Given the description of an element on the screen output the (x, y) to click on. 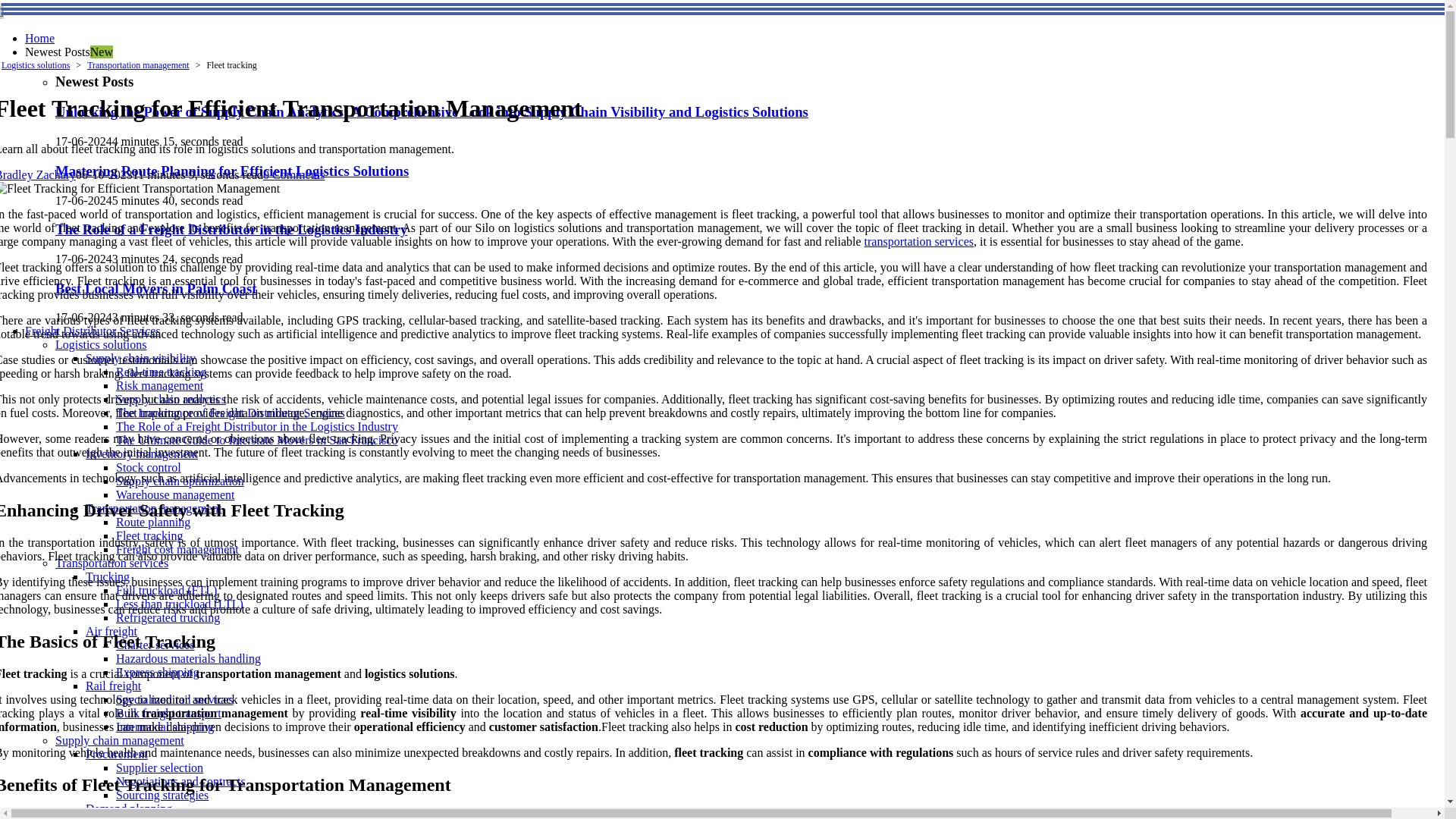
Real-time tracking (161, 371)
Logistics solutions (101, 344)
Freight Distributor Services (92, 330)
Transportation management (153, 508)
Best Local Movers in Palm Coast (155, 288)
Inventory management (141, 453)
Charter services (155, 644)
The Role of a Freight Distributor in the Logistics Industry (231, 229)
The Ultimate Guide to Interstate Movers in San Francisco (256, 440)
Refrigerated trucking (167, 617)
